Given the description of an element on the screen output the (x, y) to click on. 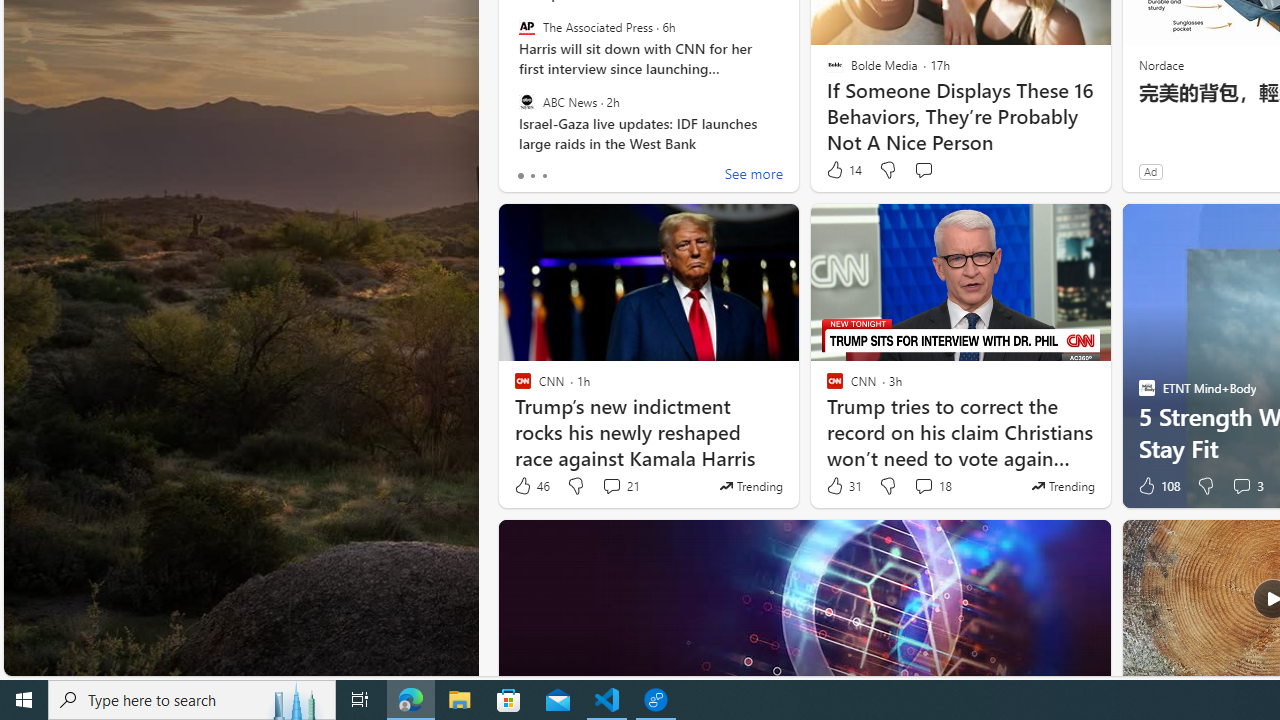
Start the conversation (923, 170)
ABC News (526, 101)
View comments 3 Comment (1241, 485)
14 Like (843, 170)
The Associated Press (526, 27)
This story is trending (1062, 485)
tab-1 (532, 175)
See more (753, 175)
46 Like (531, 485)
View comments 21 Comment (619, 485)
View comments 18 Comment (923, 485)
